Given the description of an element on the screen output the (x, y) to click on. 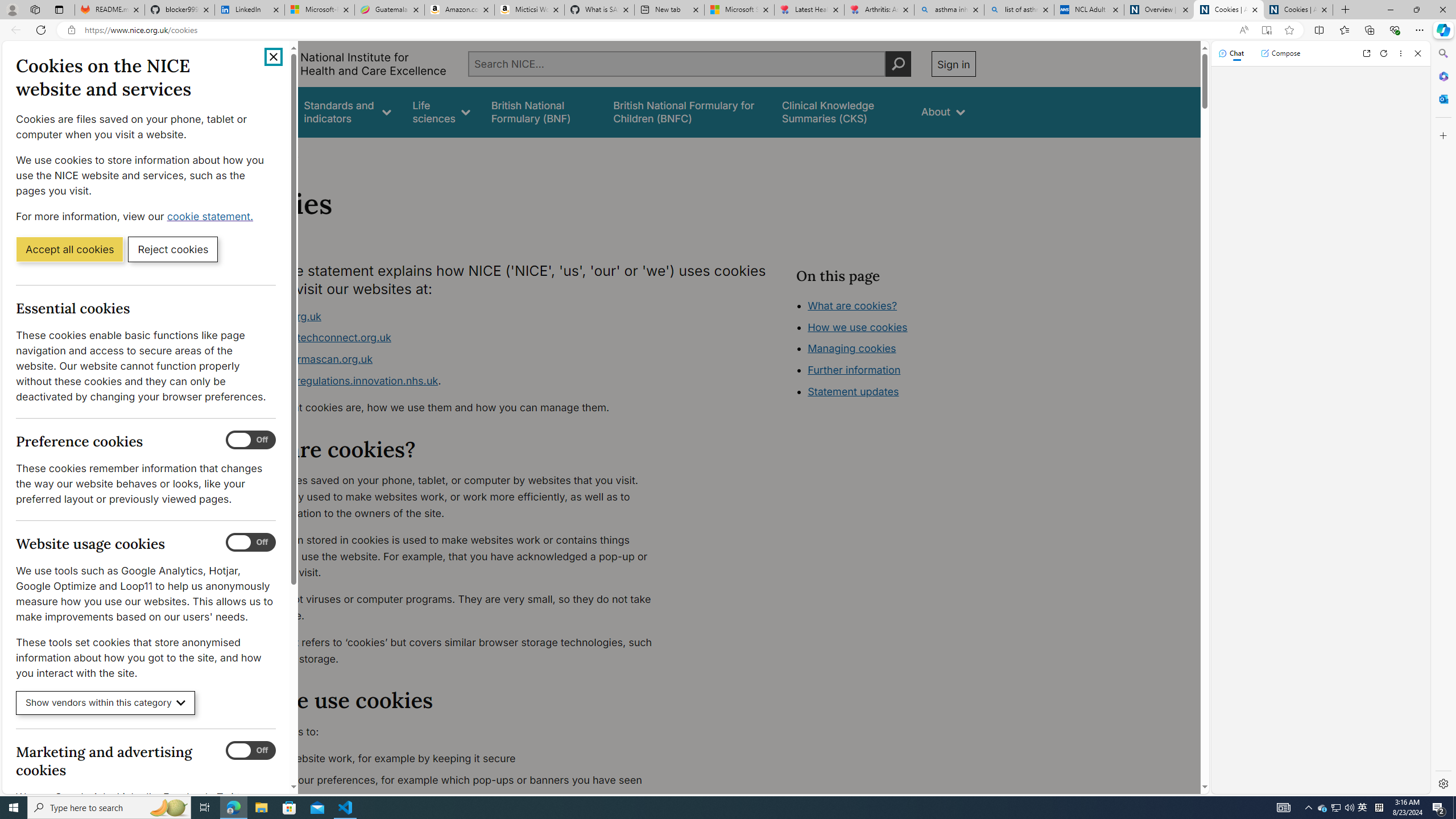
Home> (246, 152)
www.digitalregulations.innovation.nhs.uk (338, 380)
